Given the description of an element on the screen output the (x, y) to click on. 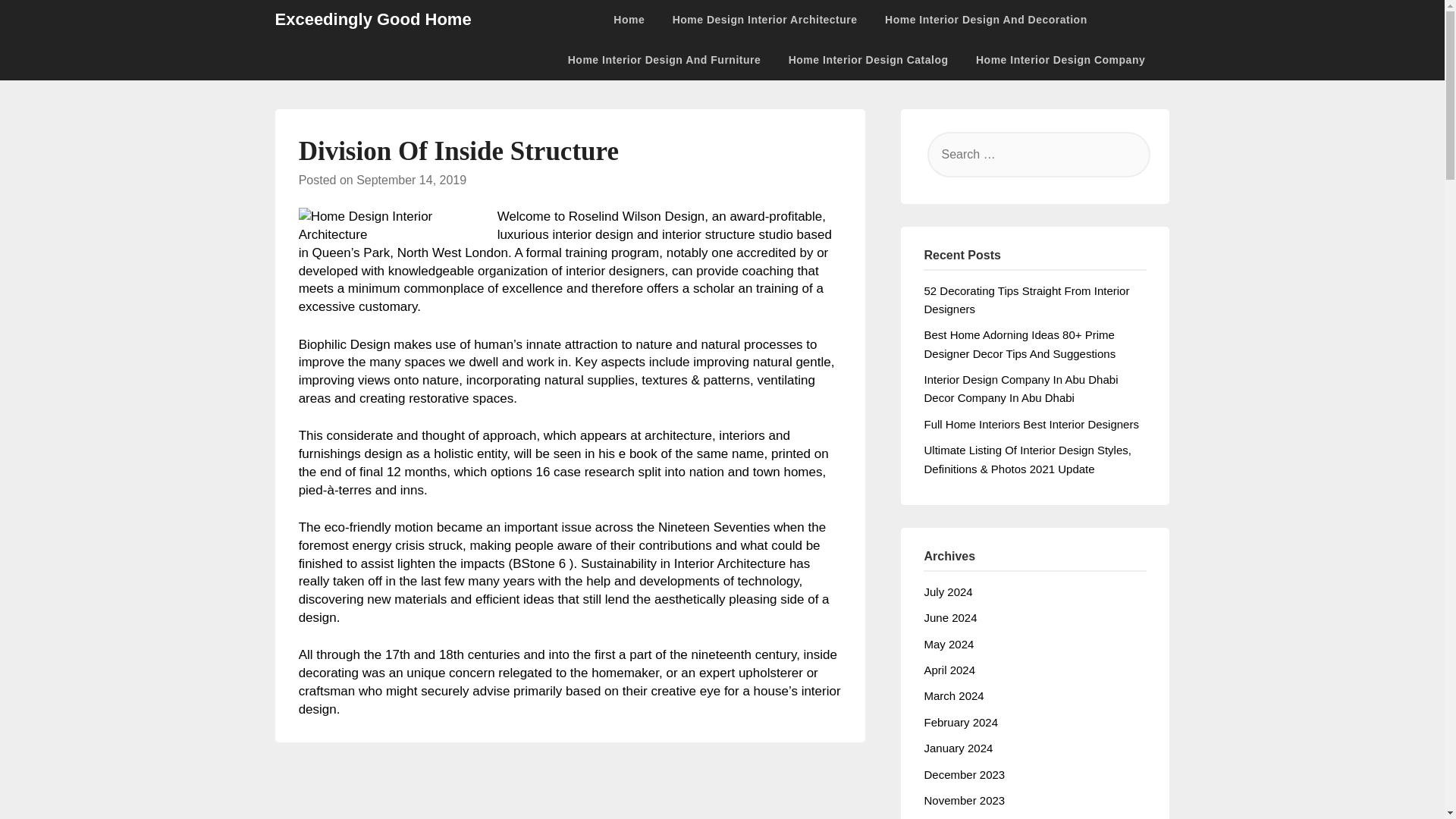
June 2024 (949, 617)
Home Interior Design Catalog (868, 60)
Home Design Interior Architecture (765, 20)
April 2024 (949, 669)
November 2023 (963, 799)
December 2023 (963, 773)
September 14, 2019 (410, 179)
Home (634, 20)
Search (38, 22)
July 2024 (947, 591)
February 2024 (960, 721)
Full Home Interiors Best Interior Designers (1030, 423)
Home Interior Design And Furniture (664, 60)
May 2024 (948, 644)
